Given the description of an element on the screen output the (x, y) to click on. 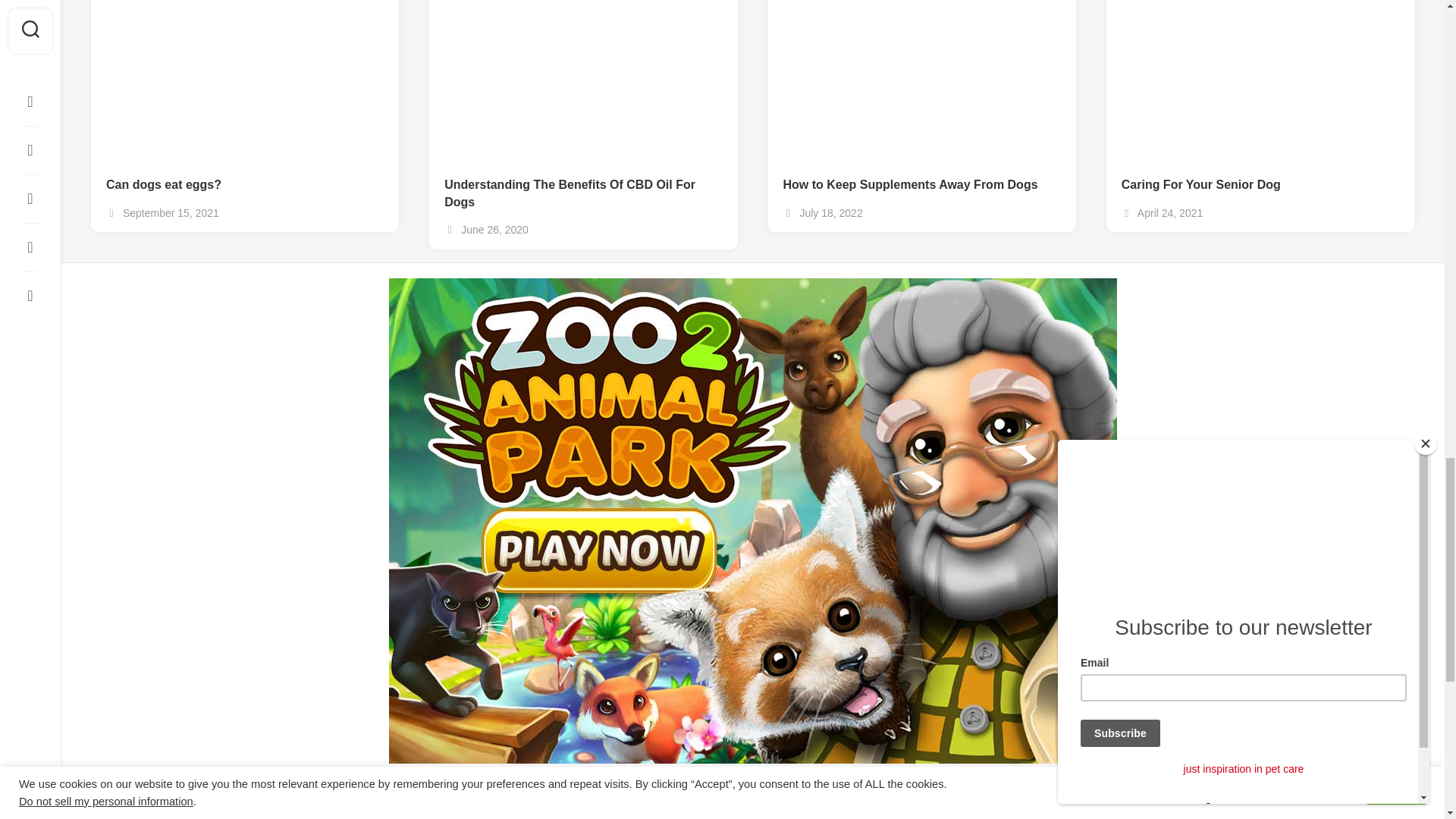
Can dogs eat eggs? (245, 185)
